Given the description of an element on the screen output the (x, y) to click on. 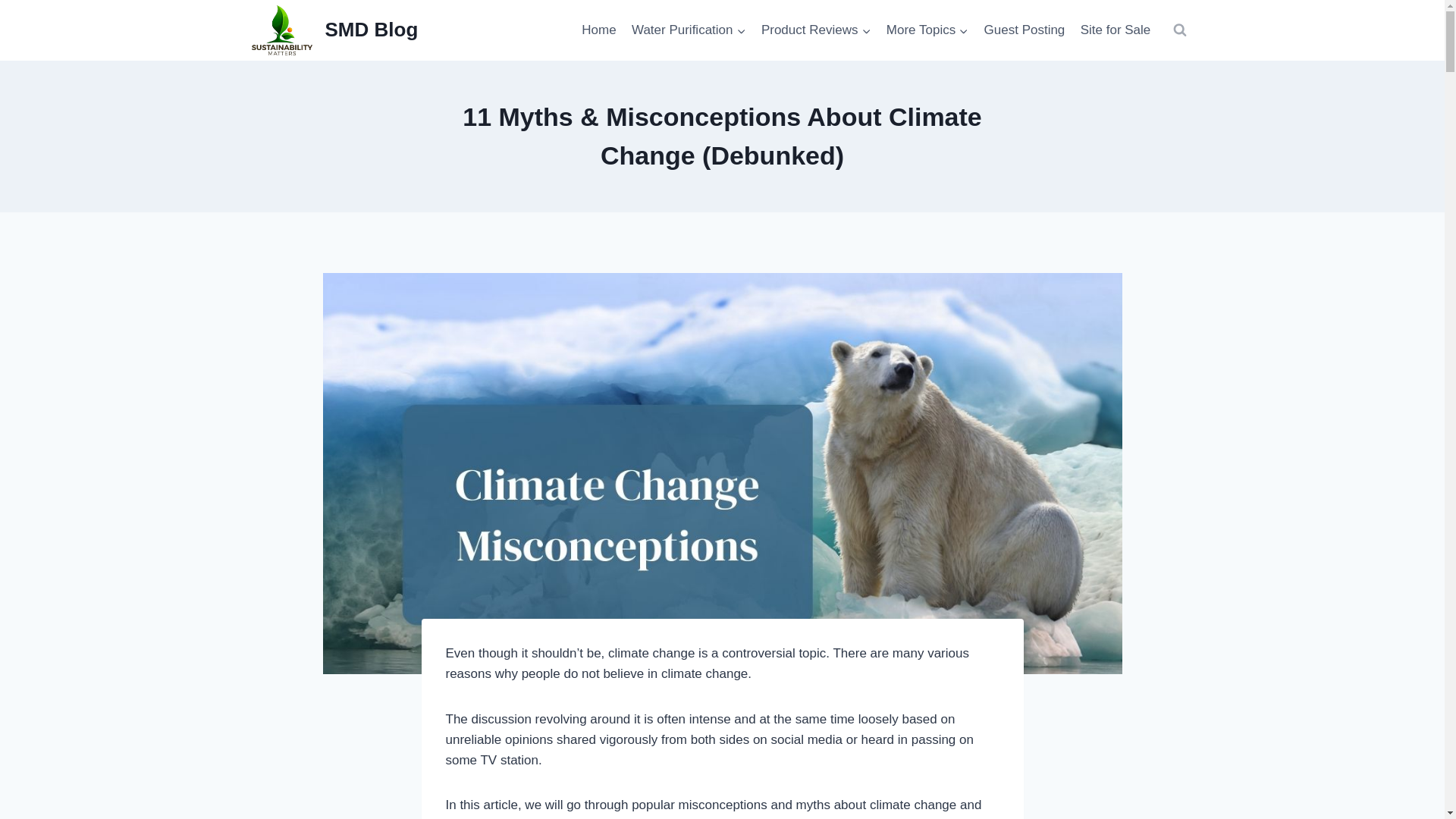
Product Reviews (816, 30)
Home (598, 30)
SMD Blog (335, 30)
More Topics (927, 30)
Guest Posting (1023, 30)
Water Purification (689, 30)
Site for Sale (1115, 30)
